Given the description of an element on the screen output the (x, y) to click on. 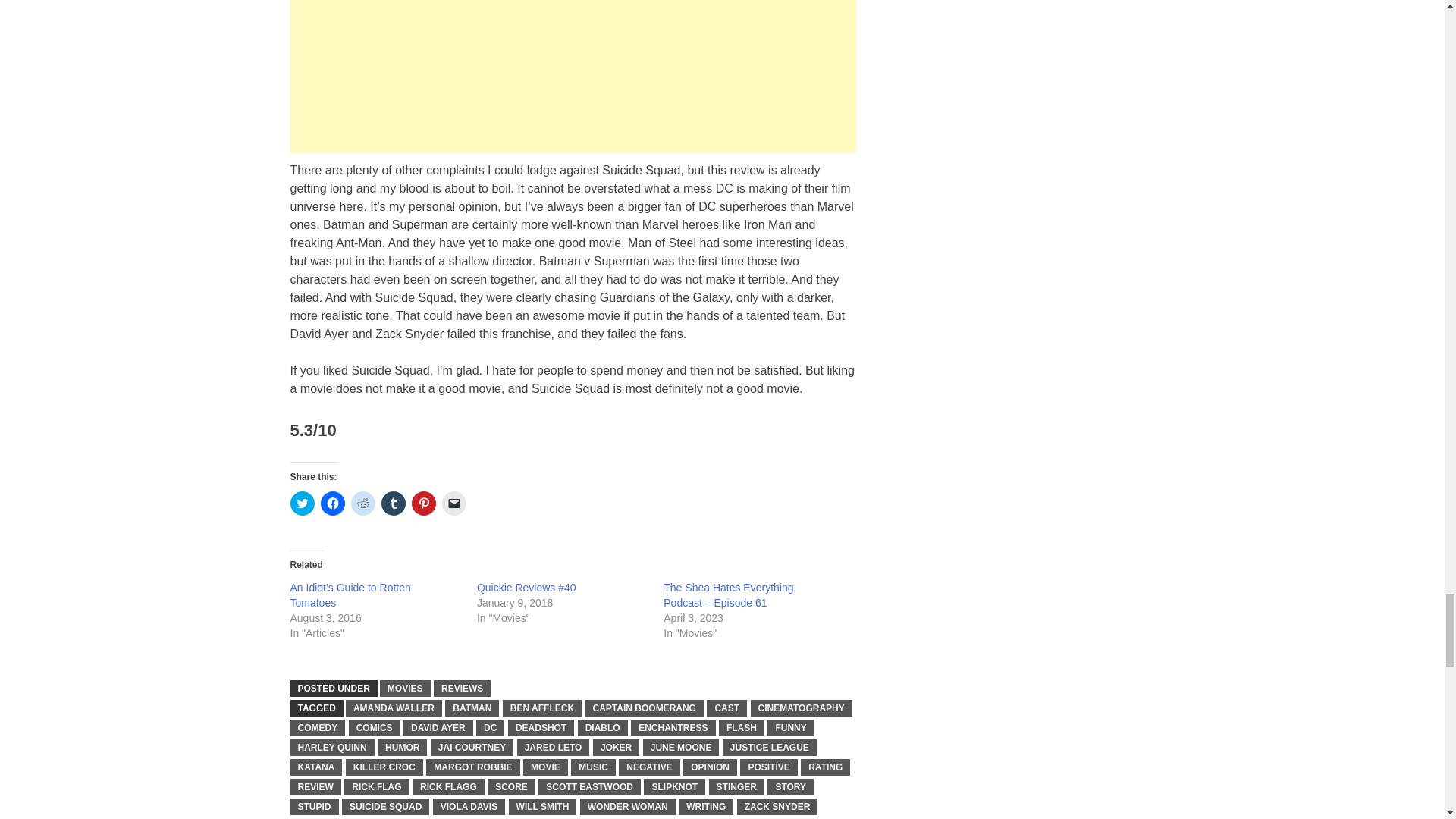
Click to share on Reddit (362, 503)
Click to share on Pinterest (422, 503)
Click to email a link to a friend (453, 503)
Click to share on Facebook (331, 503)
Click to share on Twitter (301, 503)
Click to share on Tumblr (392, 503)
